Given the description of an element on the screen output the (x, y) to click on. 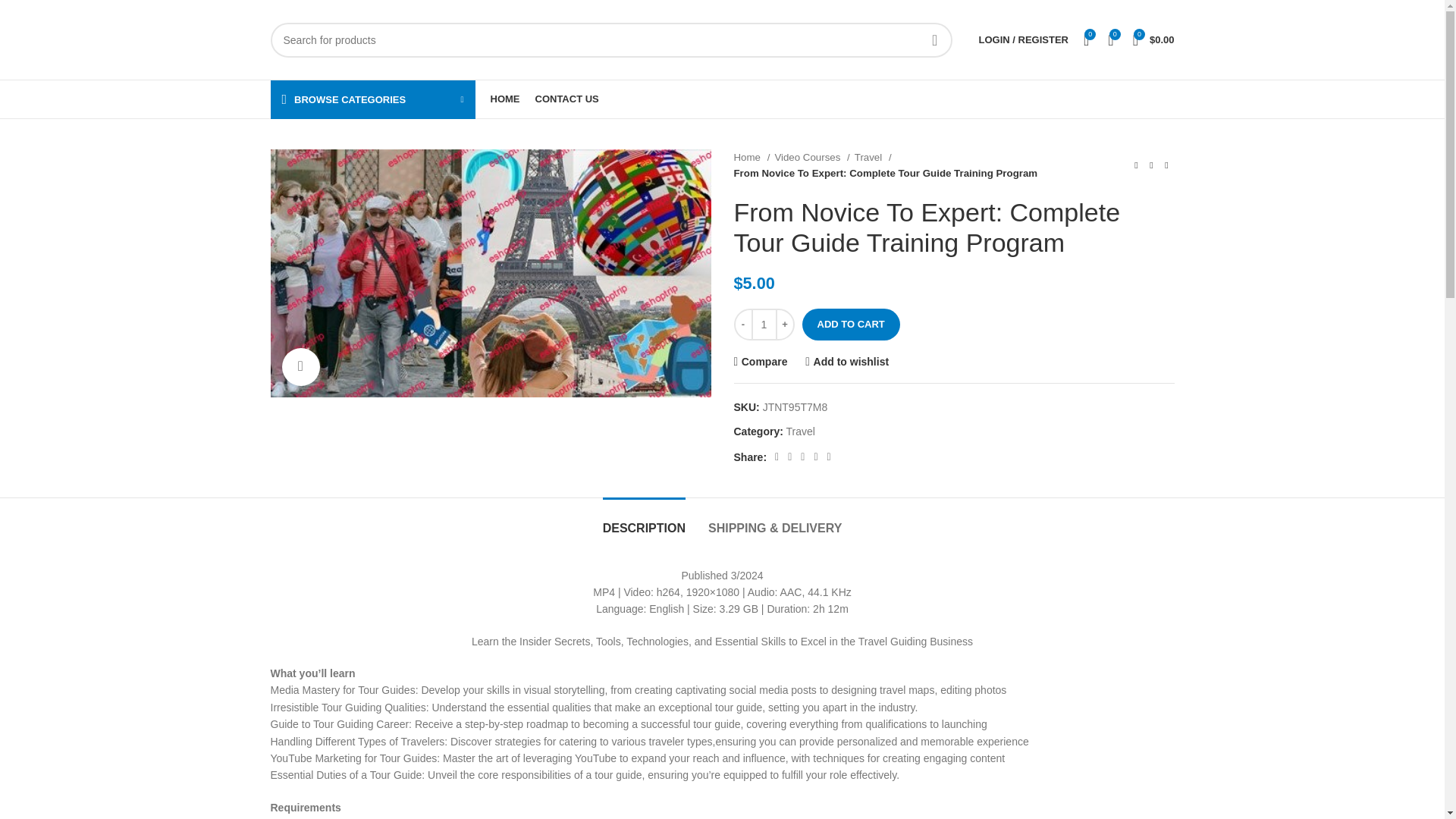
1 (763, 324)
0 (1085, 39)
My Wishlist (1085, 39)
- (742, 324)
SEARCH (934, 39)
Shopping cart (1153, 39)
0 (1110, 39)
Compare products (1110, 39)
My account (1023, 39)
Search for products (610, 39)
From Novice To Expert Complete Tour Guide Training Program (489, 273)
